Given the description of an element on the screen output the (x, y) to click on. 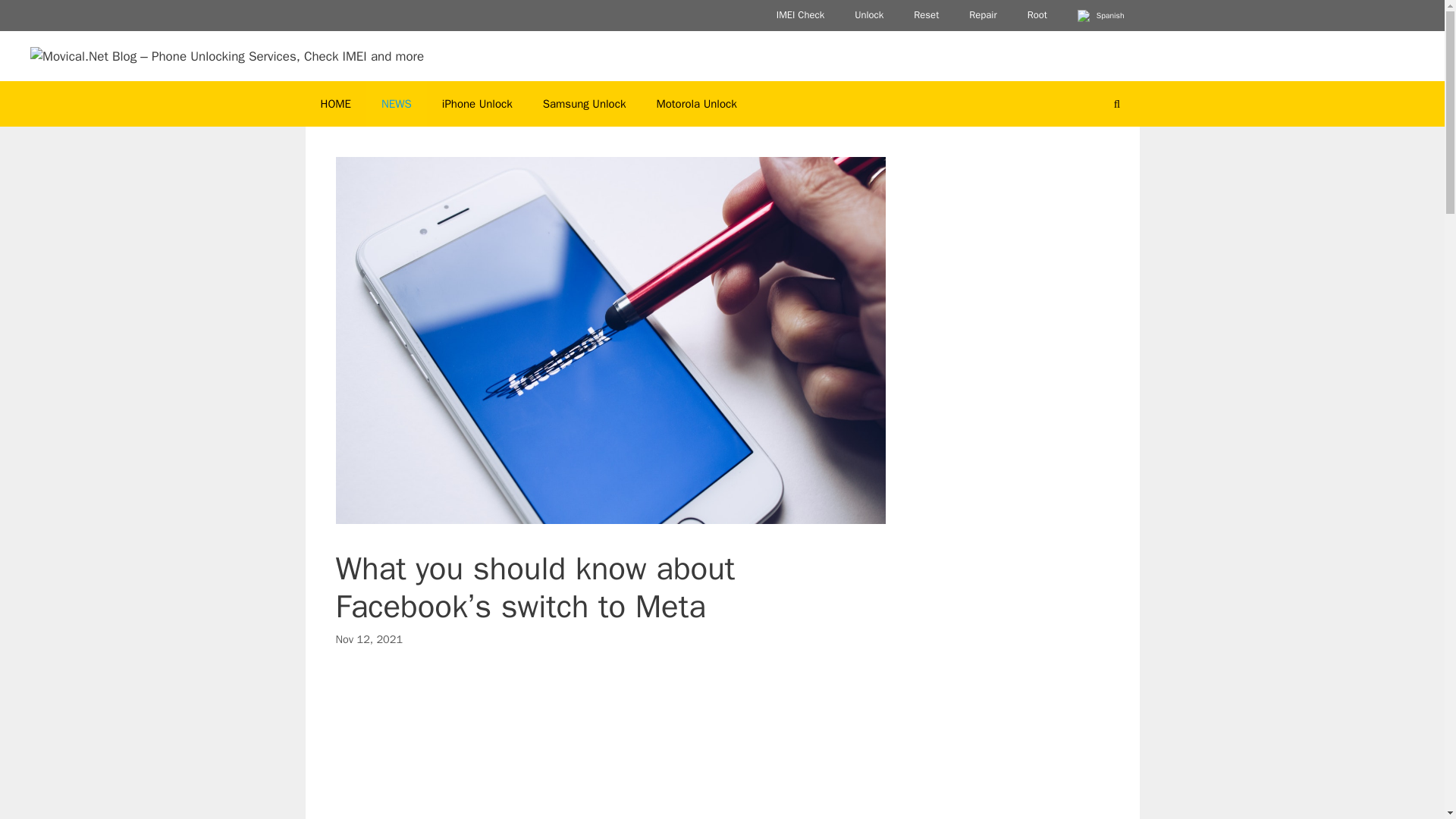
Repair (982, 15)
HOME (334, 103)
iPhone Unlock (476, 103)
Spanish (1101, 15)
IMEI Check (800, 15)
Root (1036, 15)
Unlock (869, 15)
NEWS (396, 103)
Samsung Unlock (584, 103)
Reset (925, 15)
